Given the description of an element on the screen output the (x, y) to click on. 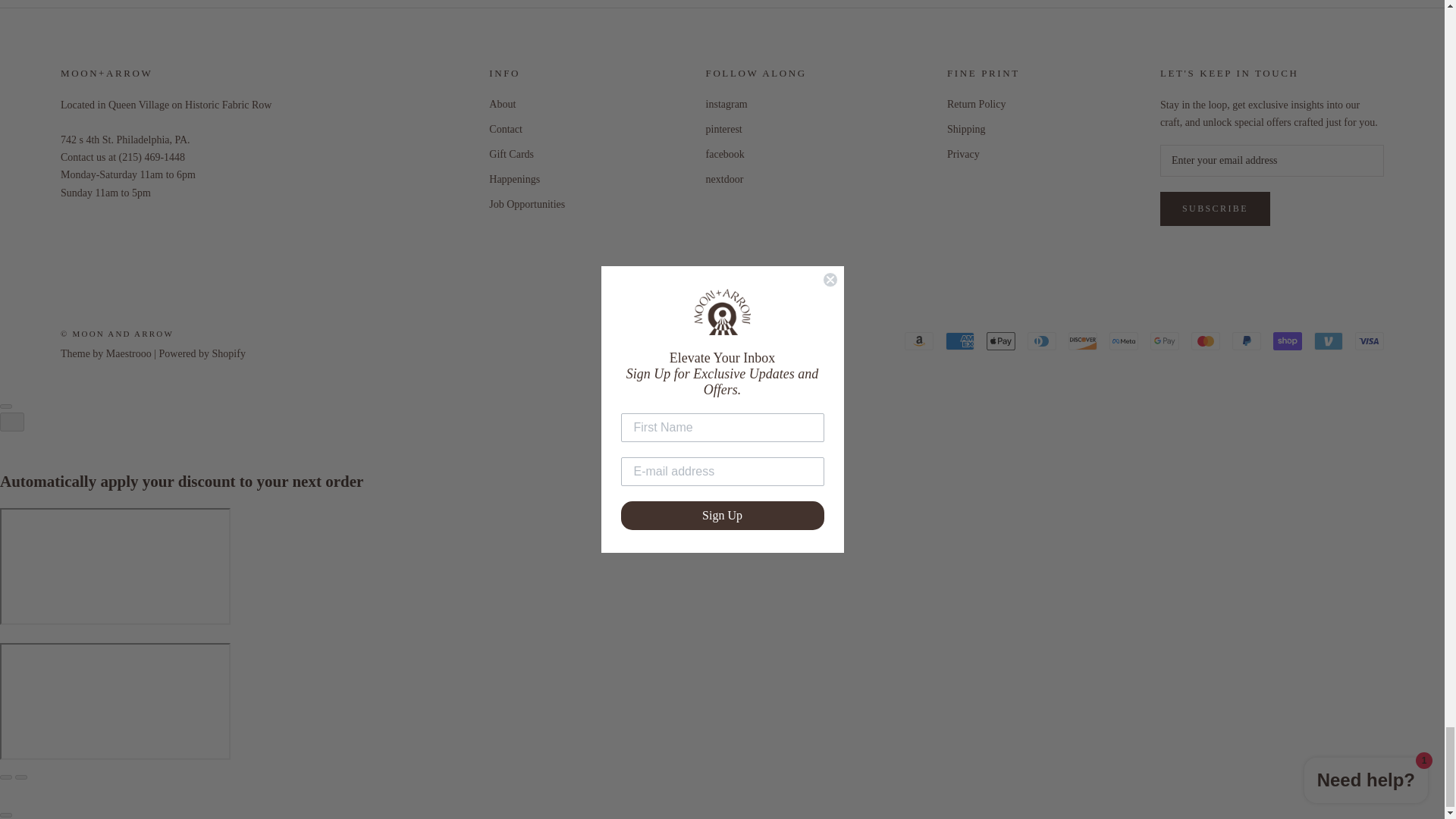
Visa (1369, 341)
Venmo (1328, 341)
Apple Pay (1000, 341)
Diners Club (1042, 341)
American Express (959, 341)
PayPal (1245, 341)
Discover (1082, 341)
Google Pay (1164, 341)
Shop Pay (1286, 341)
Meta Pay (1123, 341)
Amazon (918, 341)
Mastercard (1205, 341)
